Given the description of an element on the screen output the (x, y) to click on. 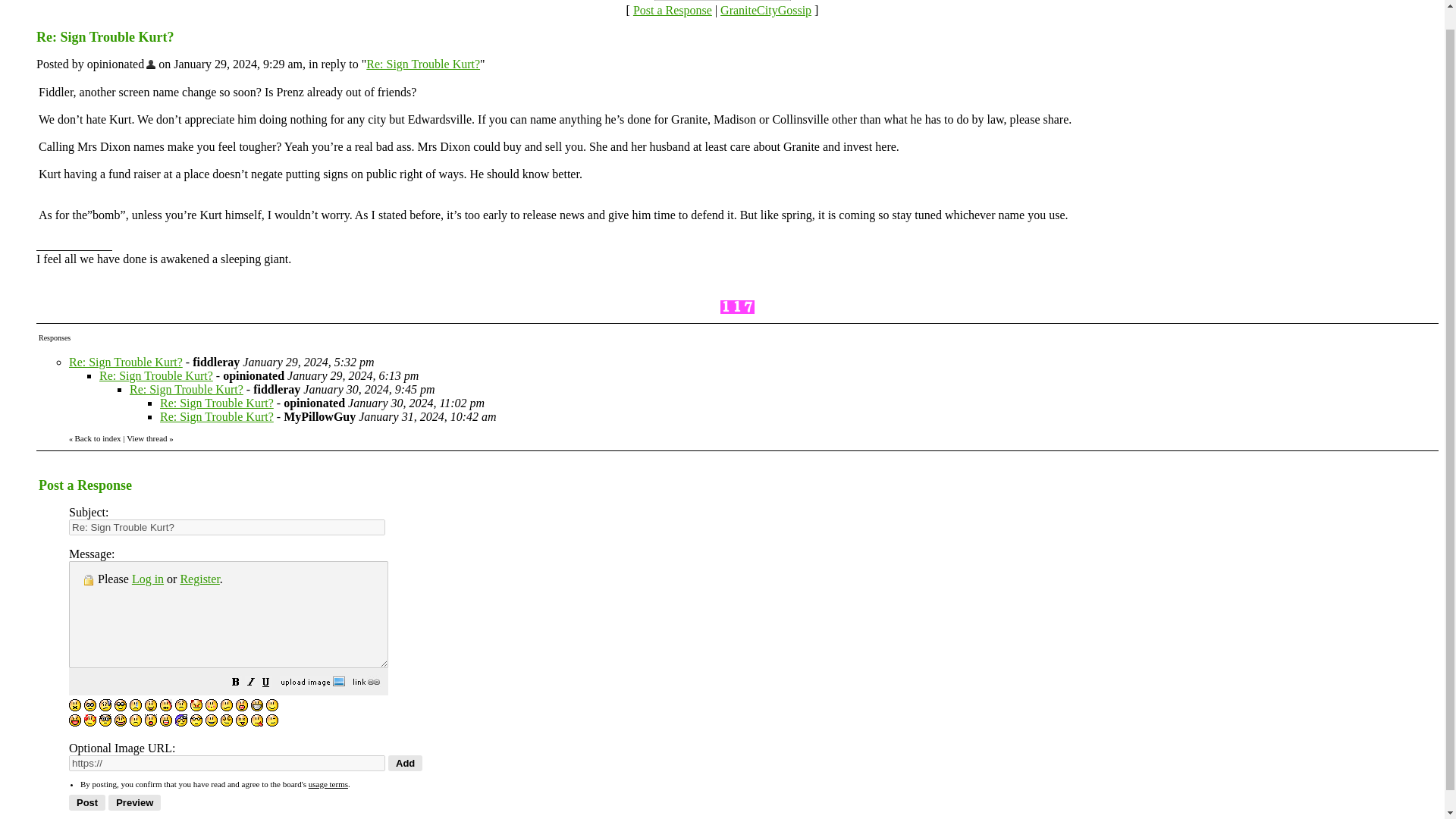
GraniteCityGossip (765, 10)
Re: Sign Trouble Kurt? (186, 389)
Log in (147, 578)
Preview (133, 802)
Add (405, 763)
Upload Image (312, 683)
Post a Response (672, 10)
Responses (54, 336)
Re: Sign Trouble Kurt? (216, 416)
Back to index (97, 438)
Re: Sign Trouble Kurt? (423, 63)
Re: Sign Trouble Kurt? (125, 361)
Re: Sign Trouble Kurt? (155, 375)
View thread (146, 438)
Register (199, 578)
